Given the description of an element on the screen output the (x, y) to click on. 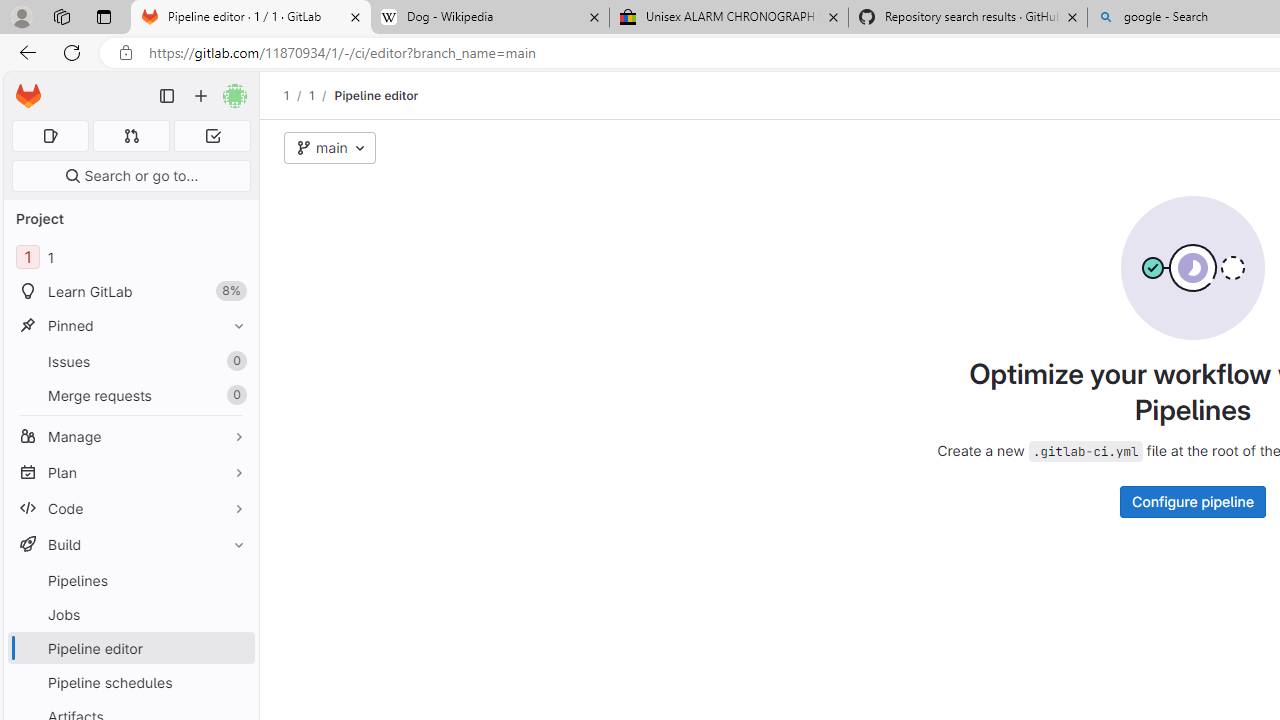
Pipeline editor (376, 95)
Plan (130, 471)
Merge requests 0 (130, 394)
1 1 (130, 257)
To-Do list 0 (212, 136)
Pipelines (130, 579)
1 (311, 95)
Merge requests0 (130, 394)
Jobs (130, 614)
Create new... (201, 96)
Pin Pipeline schedules (234, 682)
11 (130, 257)
